Given the description of an element on the screen output the (x, y) to click on. 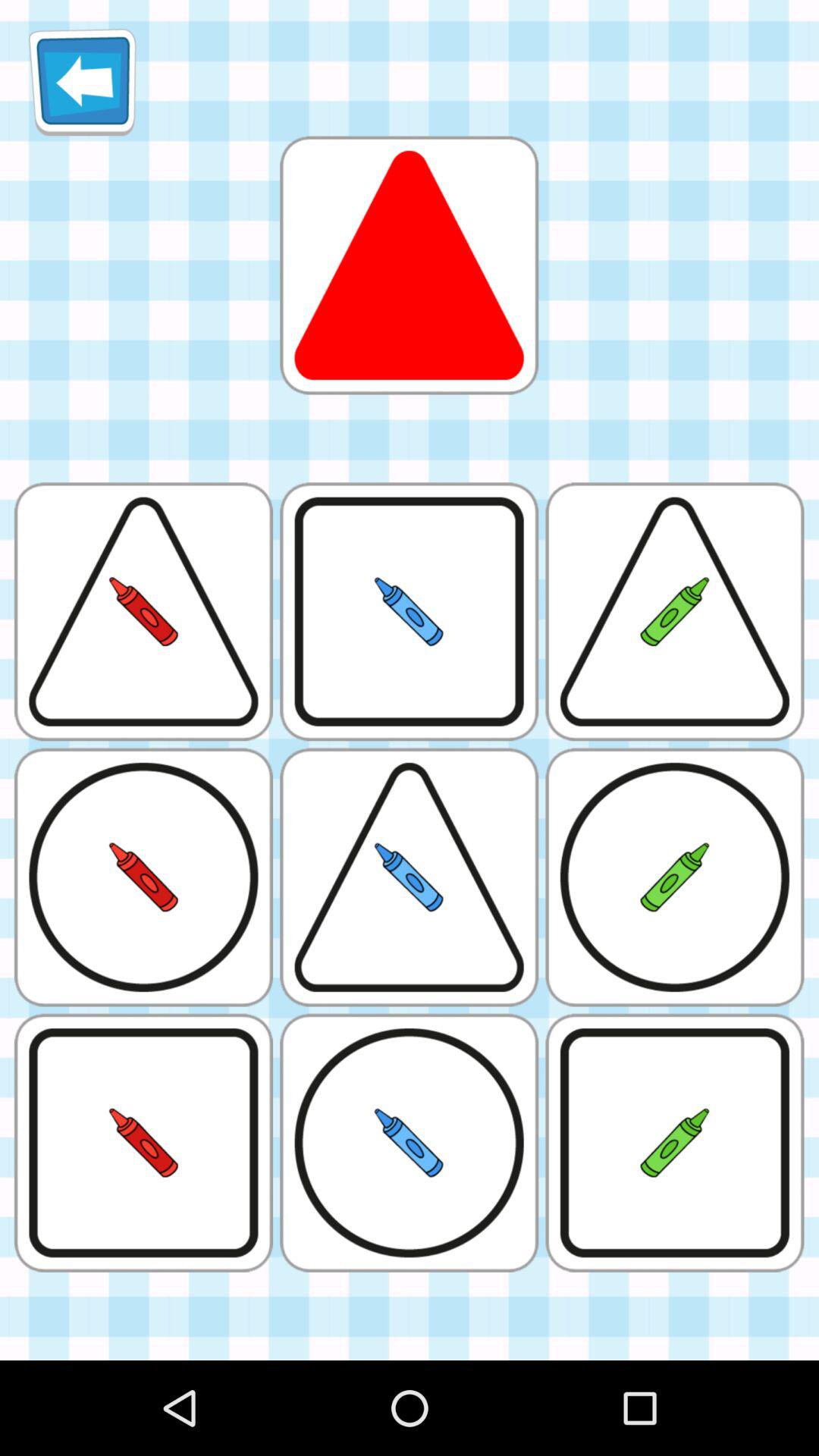
find match (409, 265)
